Given the description of an element on the screen output the (x, y) to click on. 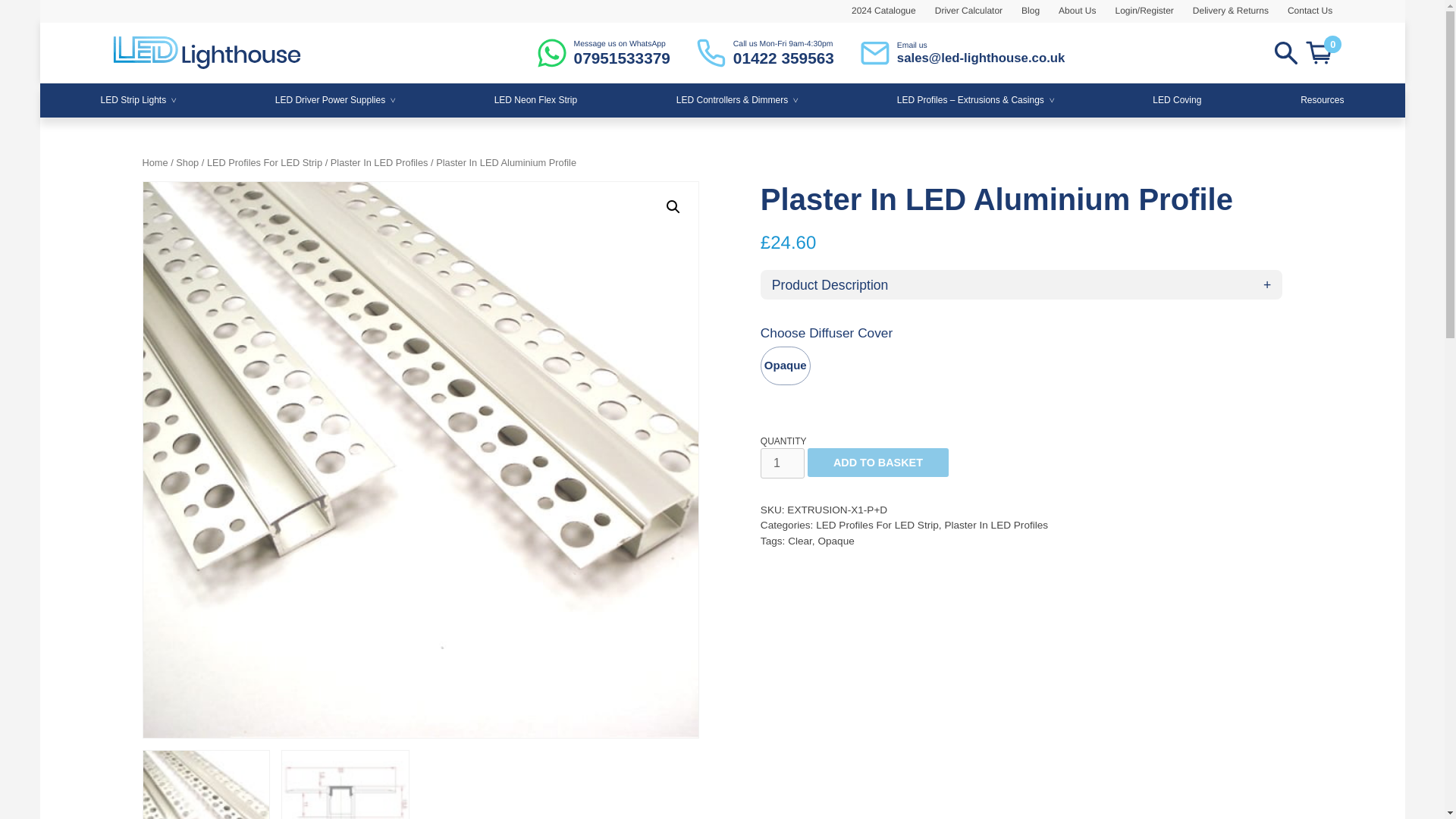
1 (782, 462)
LED Strip Lights (138, 100)
2024 Catalogue (873, 11)
Driver Calculator (959, 11)
Blog (603, 51)
Contact Us (1021, 11)
About Us (1300, 11)
LED Lighthouse (765, 51)
